Given the description of an element on the screen output the (x, y) to click on. 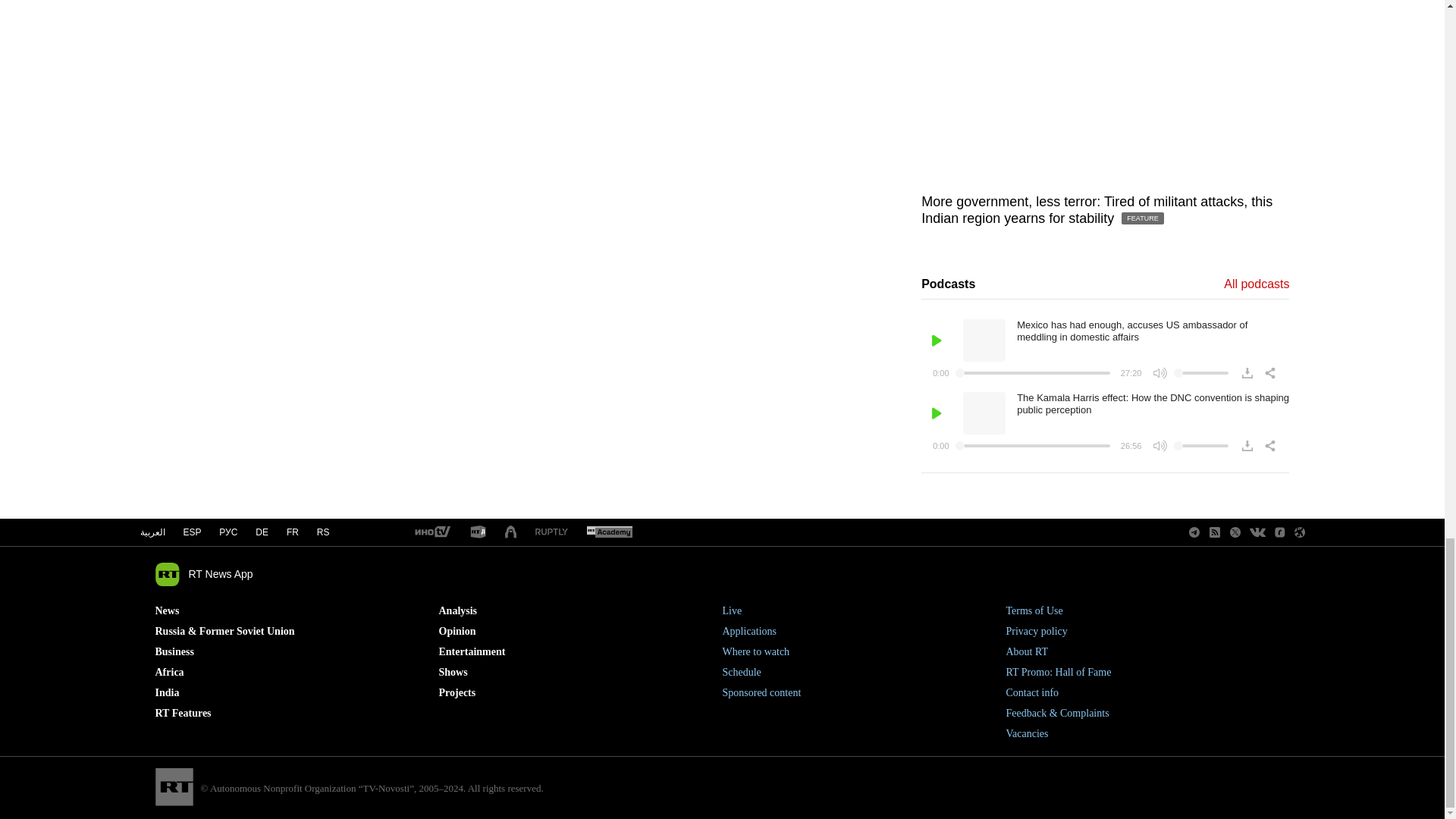
RT  (478, 532)
RT  (551, 532)
RT  (431, 532)
RT  (608, 532)
